Given the description of an element on the screen output the (x, y) to click on. 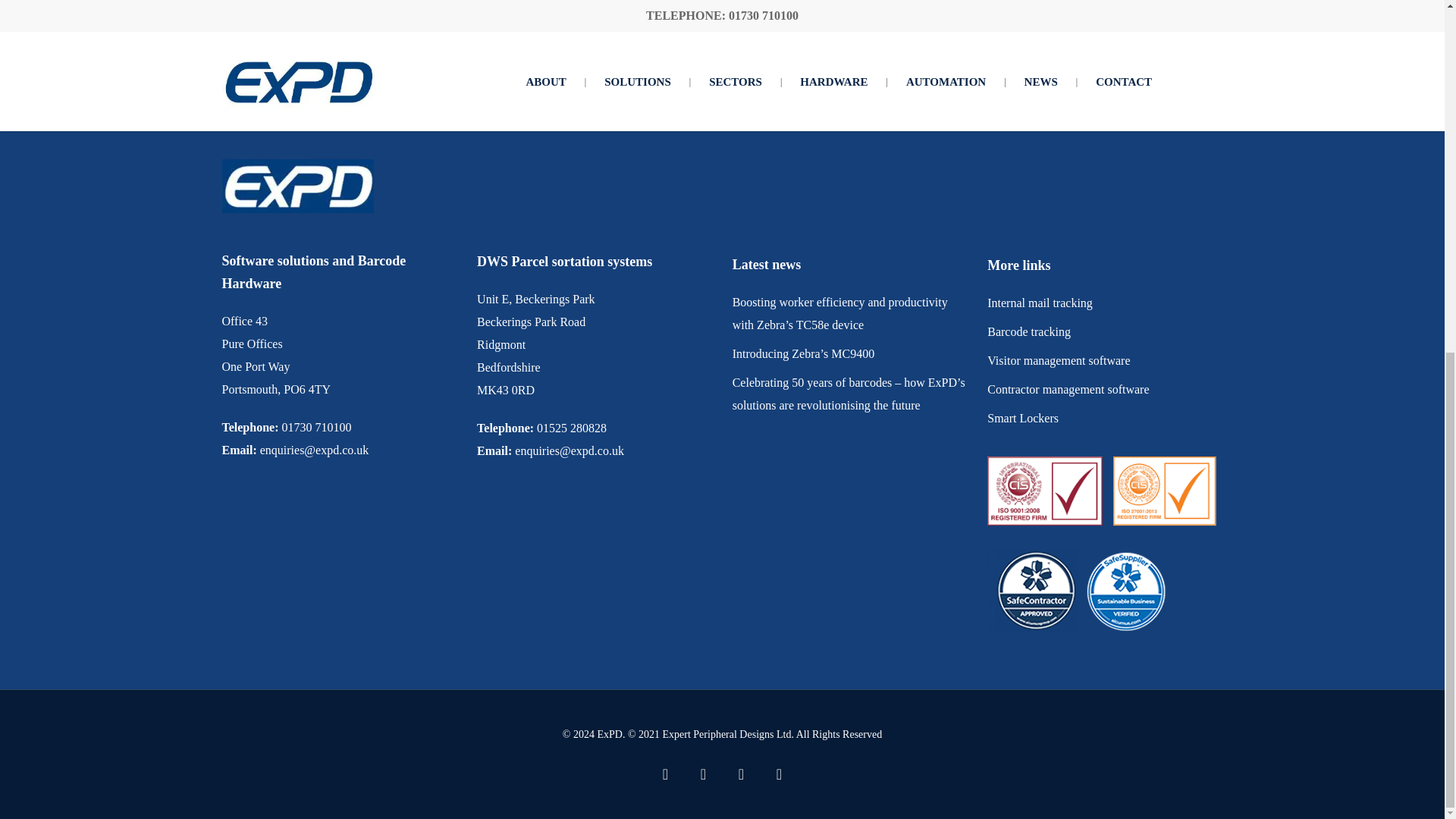
01730 710100 (315, 427)
01525 280828 (572, 427)
